Given the description of an element on the screen output the (x, y) to click on. 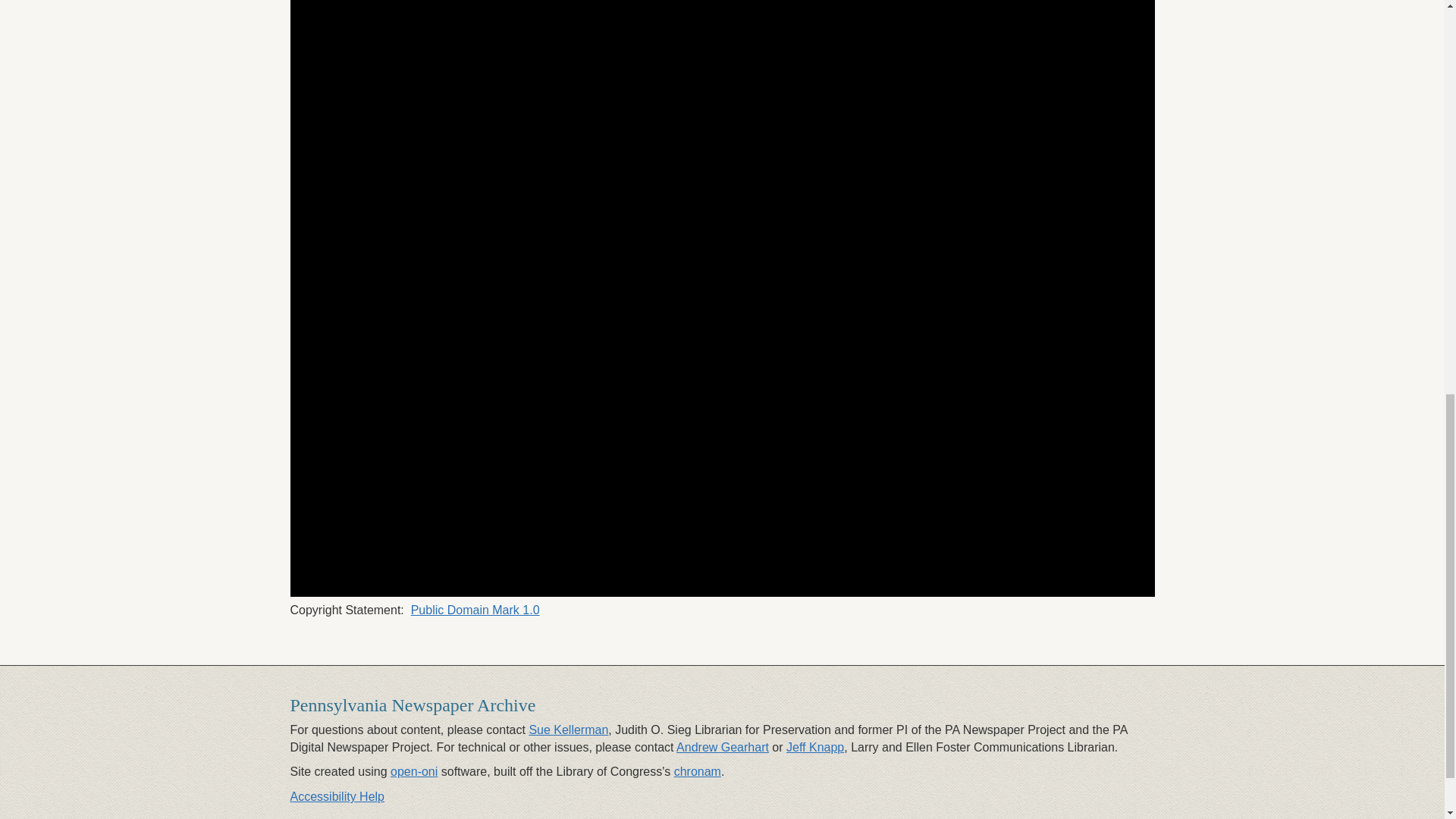
Andrew Gearhart (722, 747)
Accessibility Help (336, 796)
Sue Kellerman (568, 729)
chronam (697, 771)
open-oni (414, 771)
Jeff Knapp (815, 747)
Public Domain Mark 1.0 (475, 609)
